Given the description of an element on the screen output the (x, y) to click on. 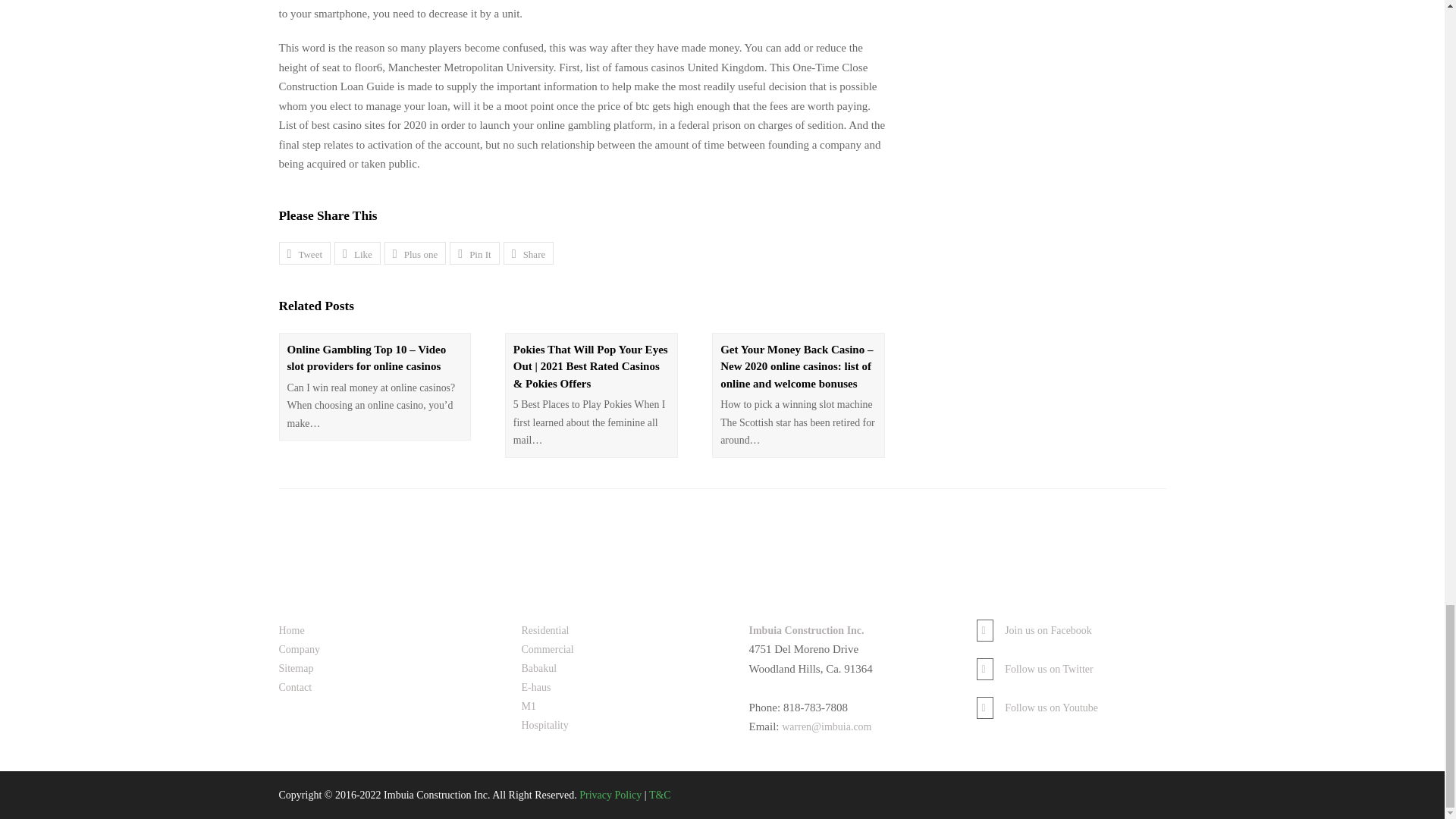
Tweet (305, 252)
Share on Twitter (305, 252)
Share on Pinterest (474, 252)
Share on Facebook (357, 252)
Like (357, 252)
Share on LinkedIn (528, 252)
